Given the description of an element on the screen output the (x, y) to click on. 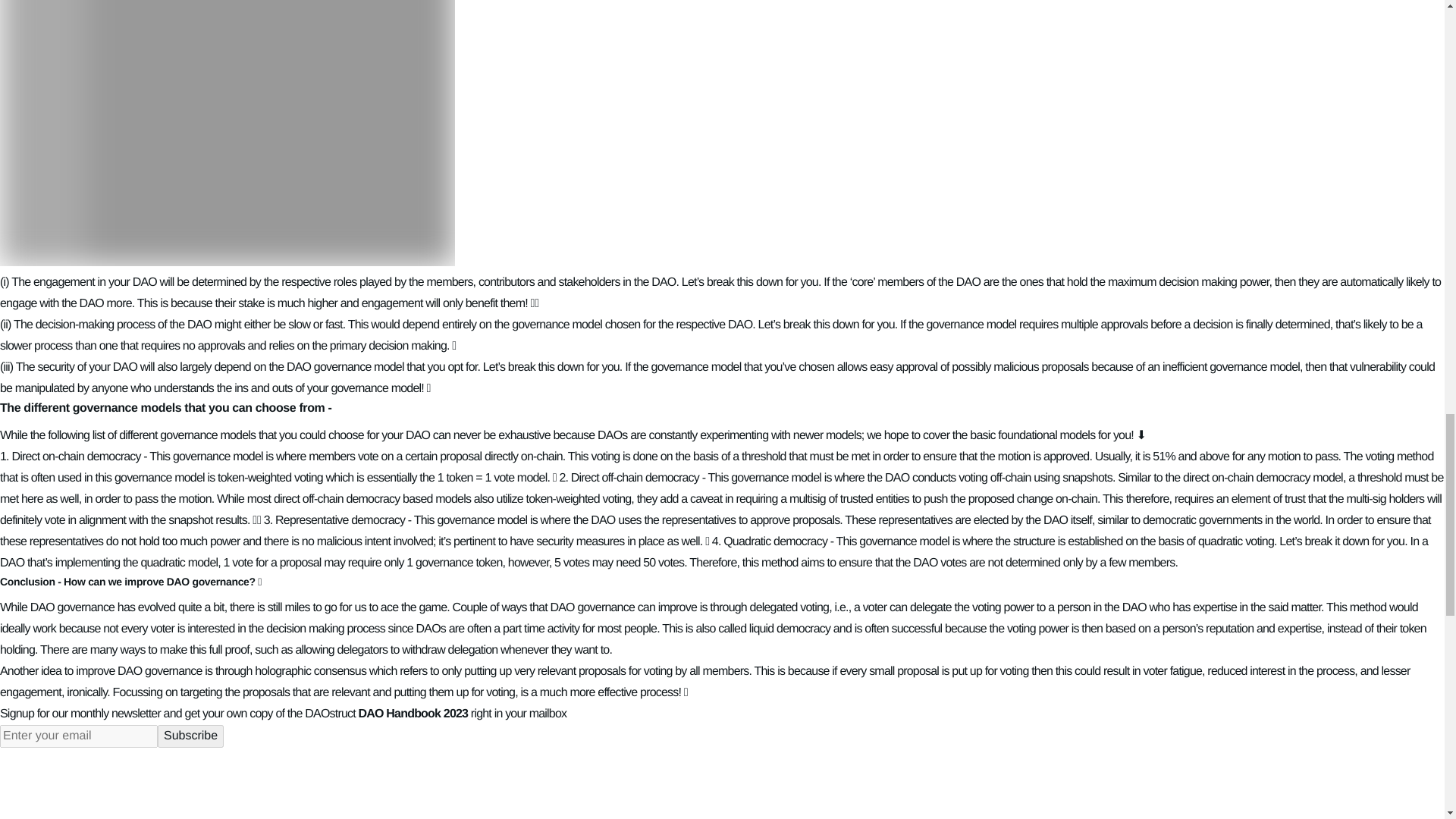
Subscribe (190, 735)
